Given the description of an element on the screen output the (x, y) to click on. 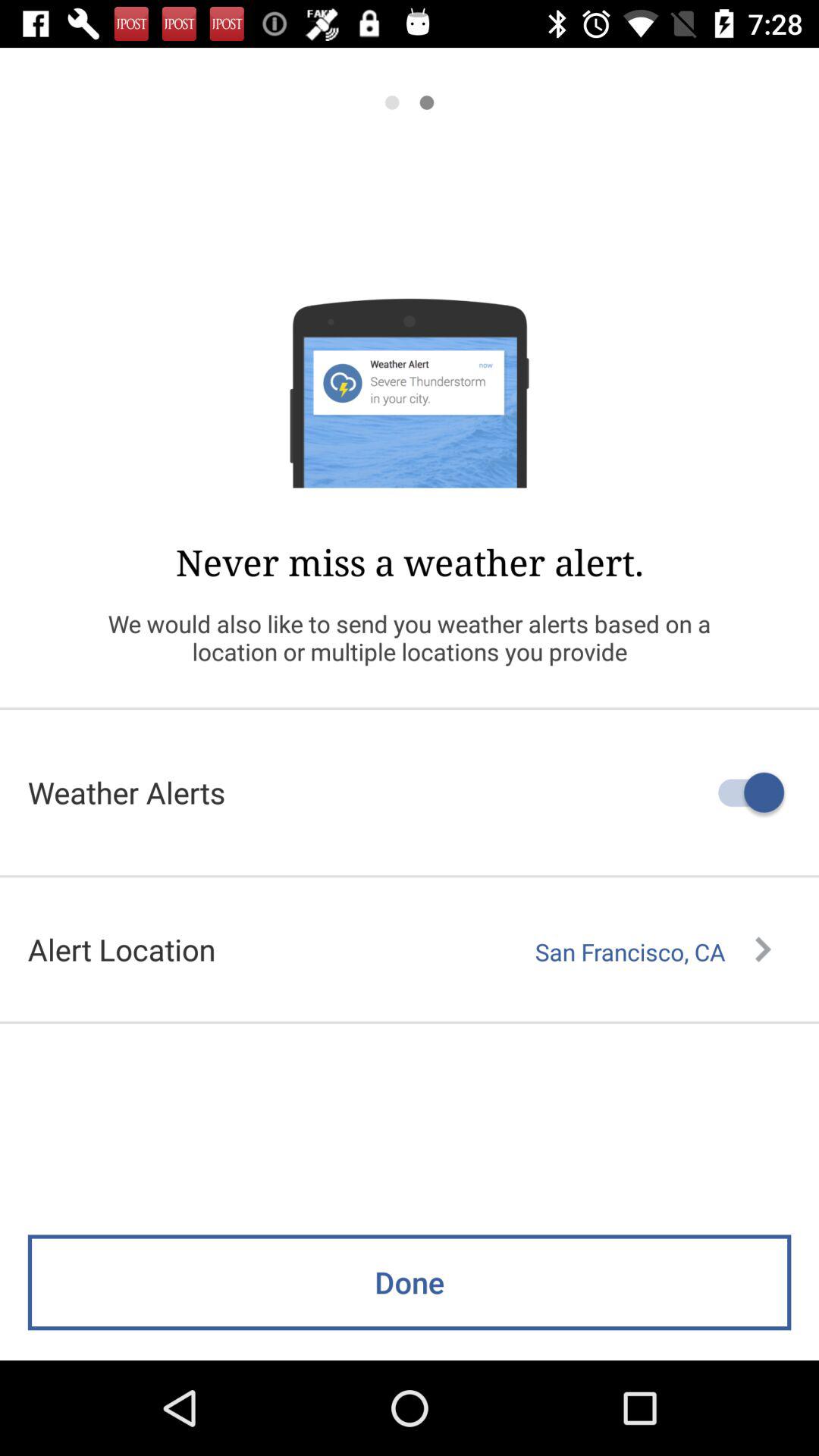
scroll until done (409, 1282)
